Given the description of an element on the screen output the (x, y) to click on. 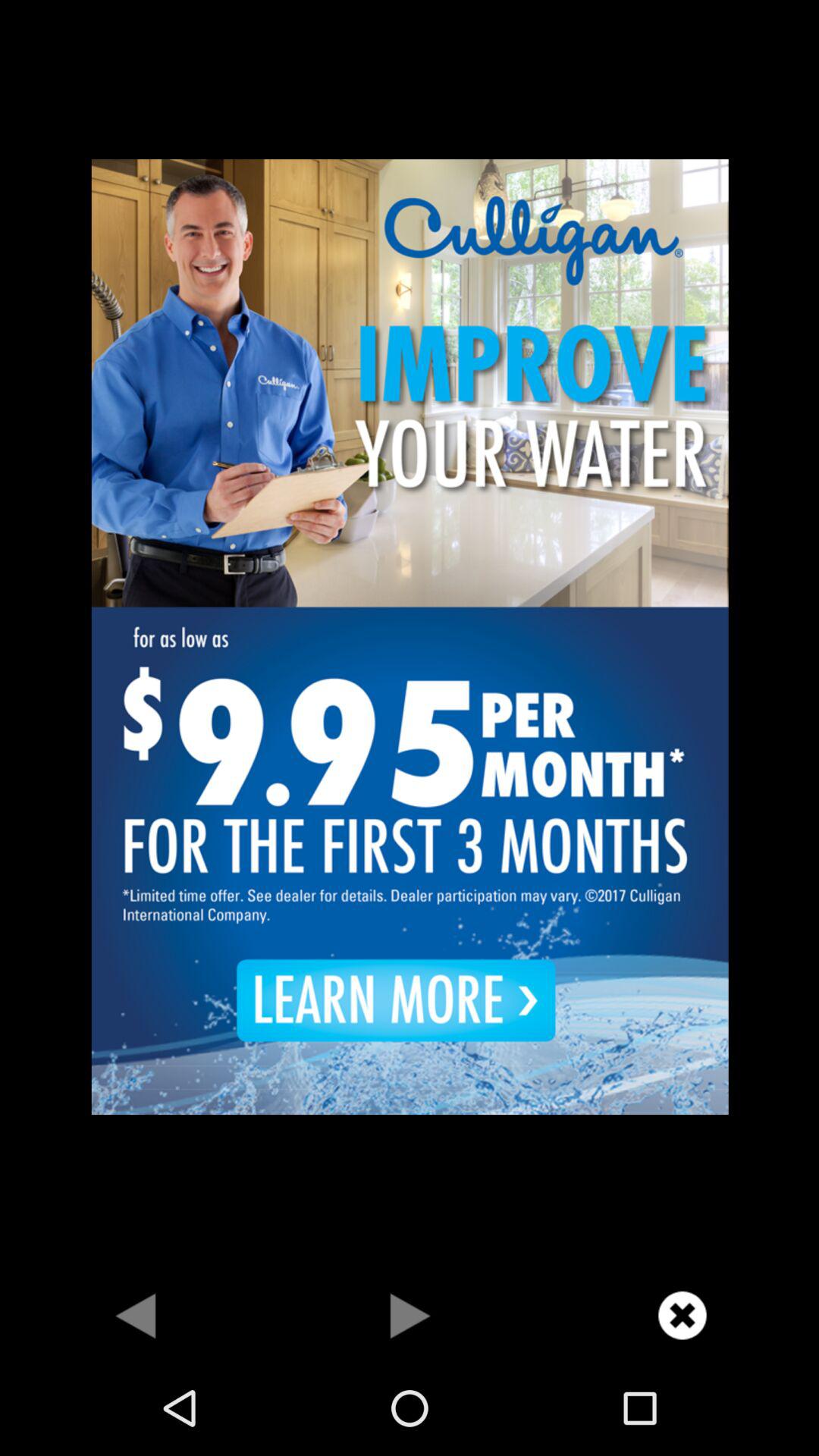
stop button (409, 1315)
